Given the description of an element on the screen output the (x, y) to click on. 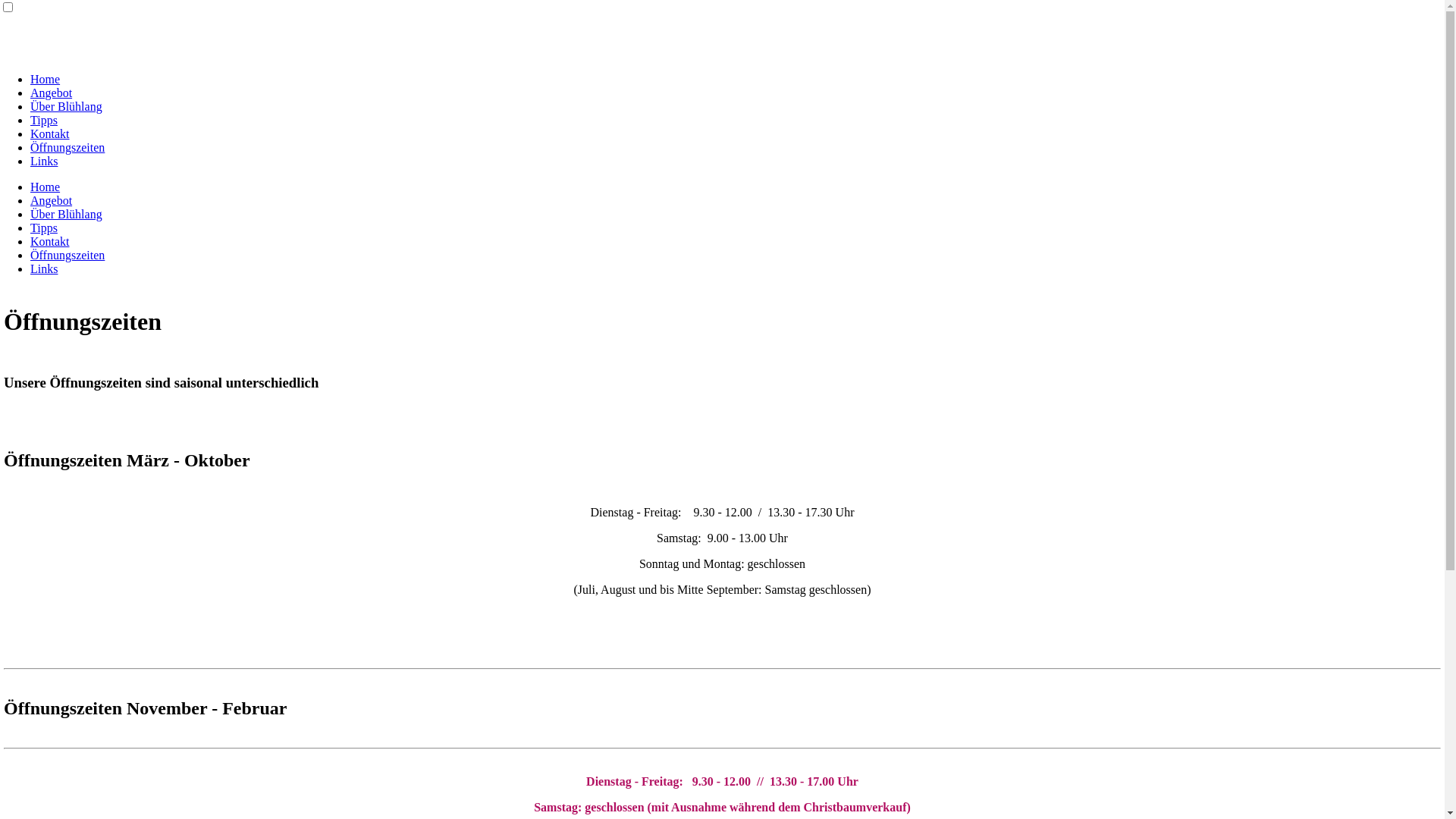
Kontakt Element type: text (49, 241)
Links Element type: text (43, 268)
Home Element type: text (44, 186)
Kontakt Element type: text (49, 133)
Links Element type: text (43, 160)
Angebot Element type: text (51, 92)
Home Element type: text (44, 78)
Tipps Element type: text (43, 227)
Tipps Element type: text (43, 119)
Angebot Element type: text (51, 200)
